Given the description of an element on the screen output the (x, y) to click on. 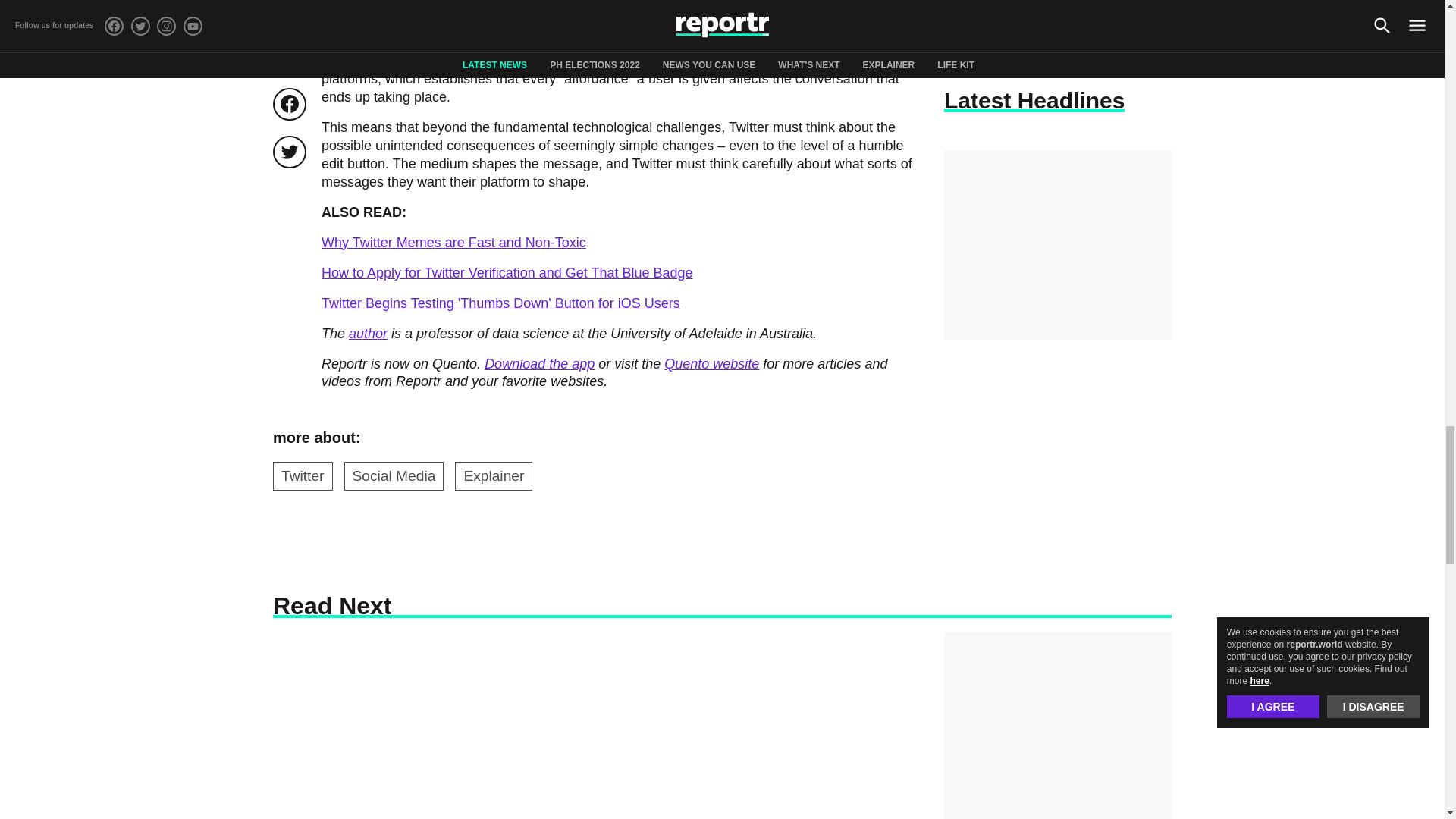
Why Twitter Memes are Fast and Non-Toxic (453, 242)
Twitter Begins Testing 'Thumbs Down' Button for iOS Users (500, 303)
author (368, 333)
